Given the description of an element on the screen output the (x, y) to click on. 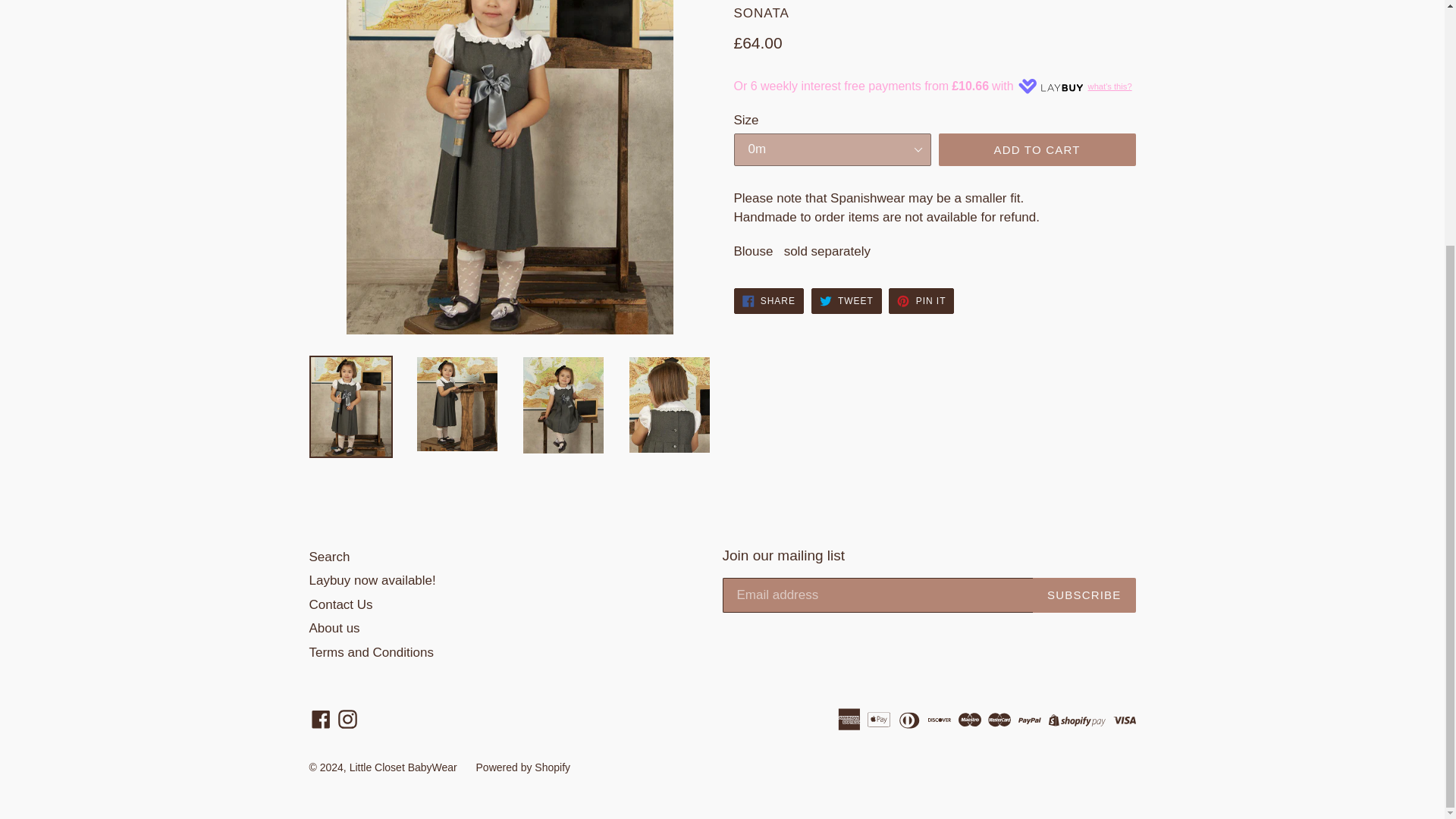
Tweet on Twitter (846, 300)
Pin on Pinterest (920, 300)
Little Closet BabyWear on Facebook (320, 718)
Little Closet BabyWear on Instagram (347, 718)
Share on Facebook (768, 300)
